Given the description of an element on the screen output the (x, y) to click on. 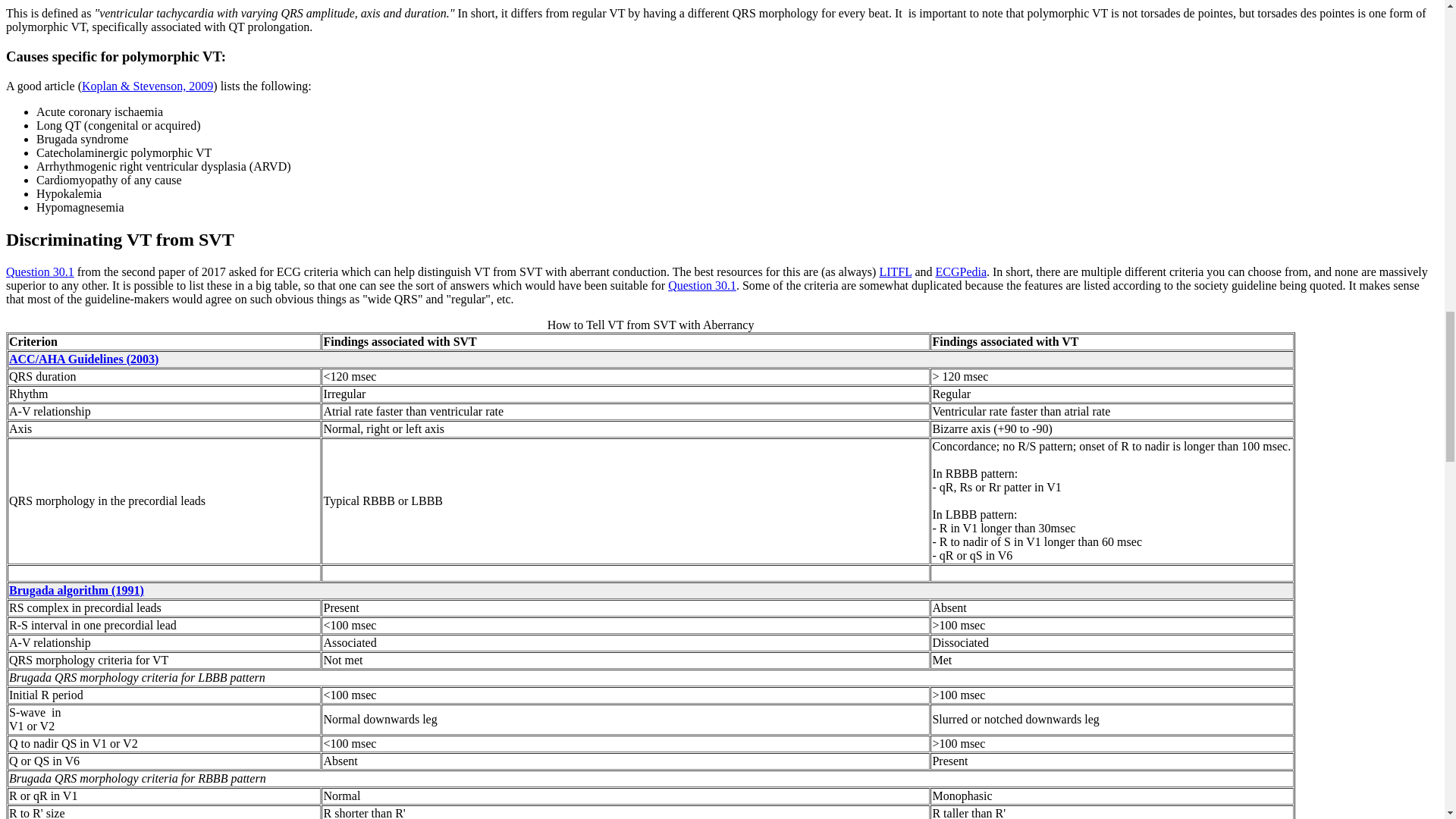
Question 30.1 (702, 285)
LITFL (895, 271)
ECGPedia (960, 271)
Question 30.1 (39, 271)
